Given the description of an element on the screen output the (x, y) to click on. 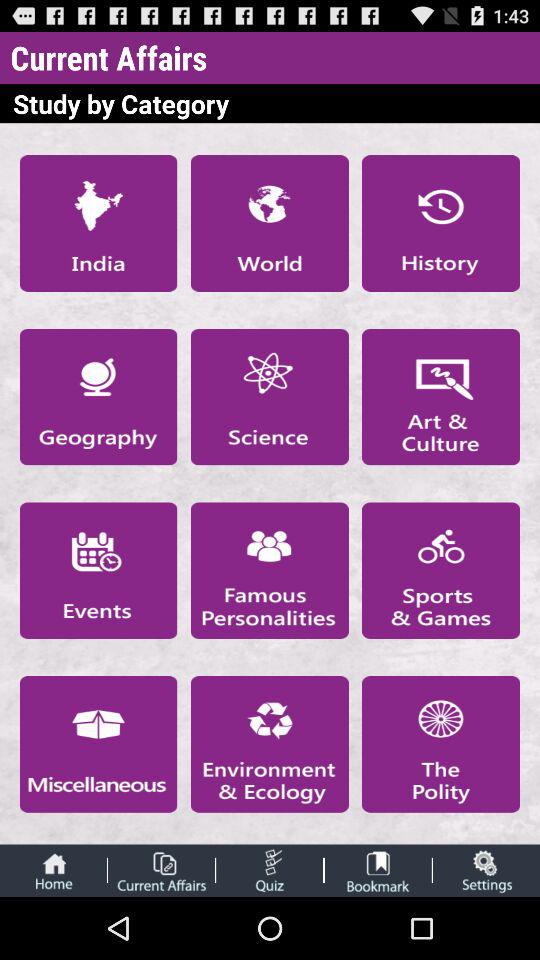
select the polity (441, 744)
